Given the description of an element on the screen output the (x, y) to click on. 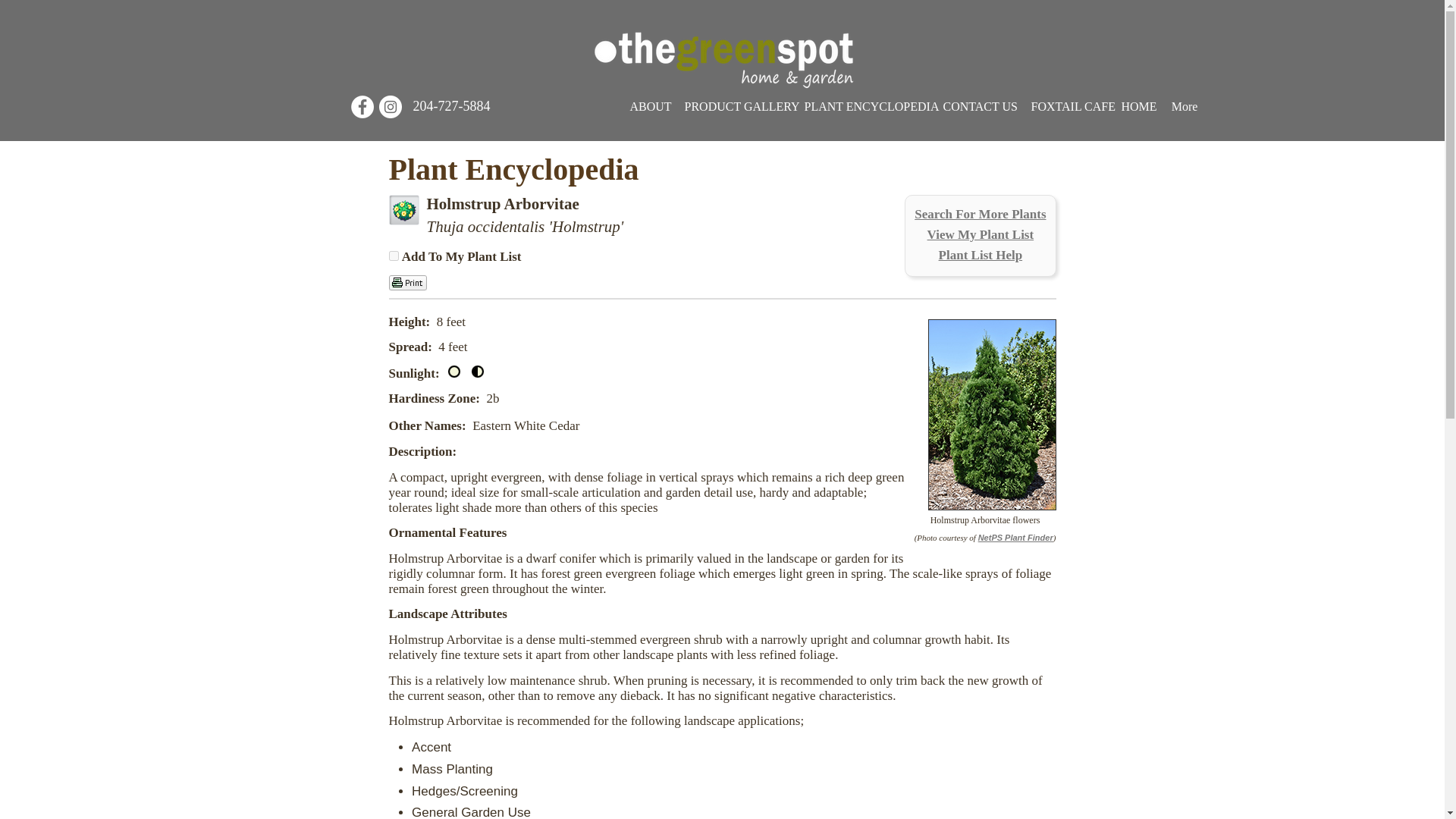
ABOUT (649, 106)
NetPS Plant Finder (1015, 537)
print page (407, 282)
HOME (1138, 106)
CONTACT US (979, 106)
True (392, 255)
Plant List Help (981, 255)
Search For More Plants (979, 214)
204-727-5884 (450, 105)
PRODUCT GALLERY (736, 106)
